Given the description of an element on the screen output the (x, y) to click on. 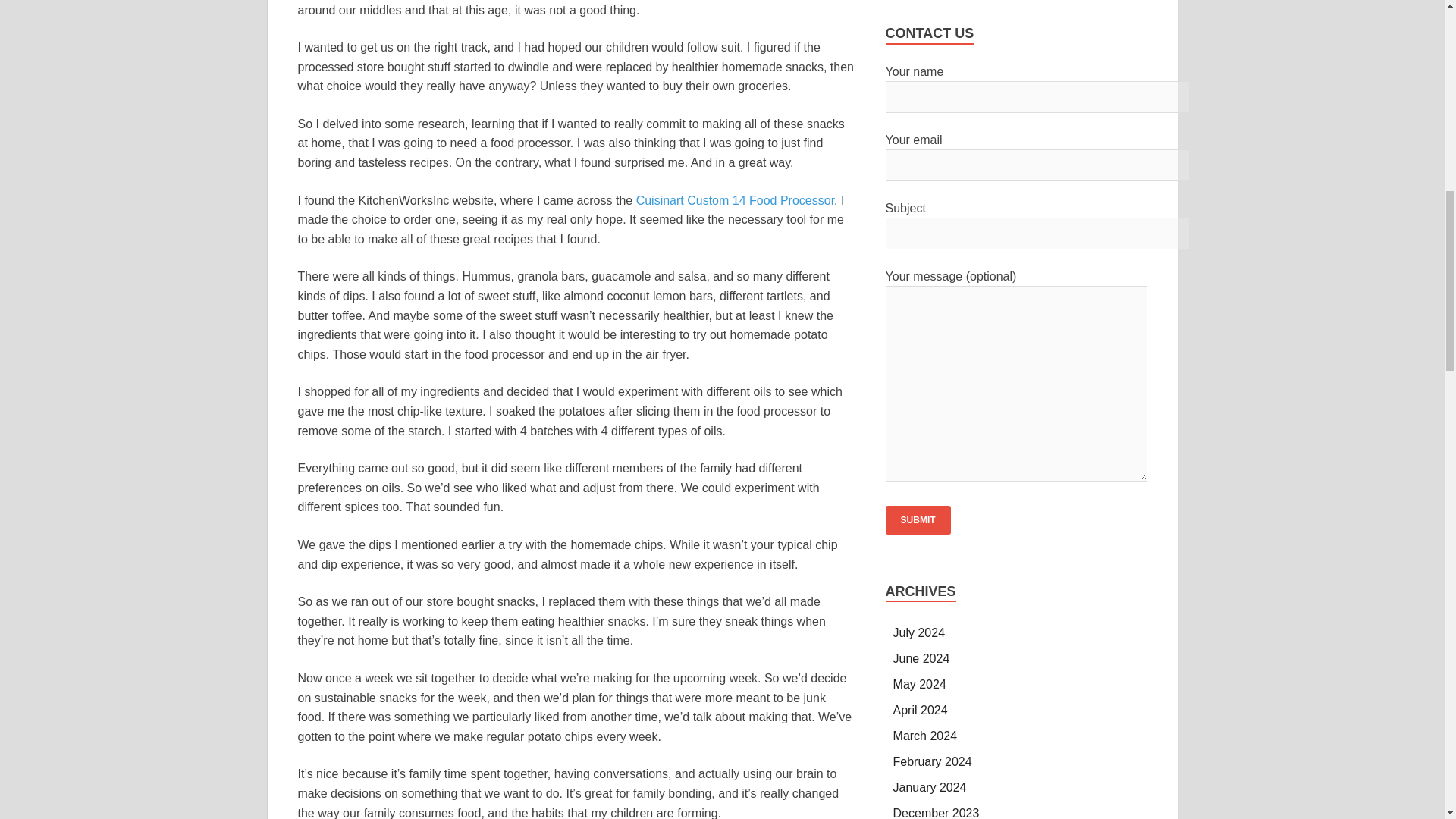
Submit (917, 520)
Cuisinart Custom 14 Food Processor (735, 200)
